Given the description of an element on the screen output the (x, y) to click on. 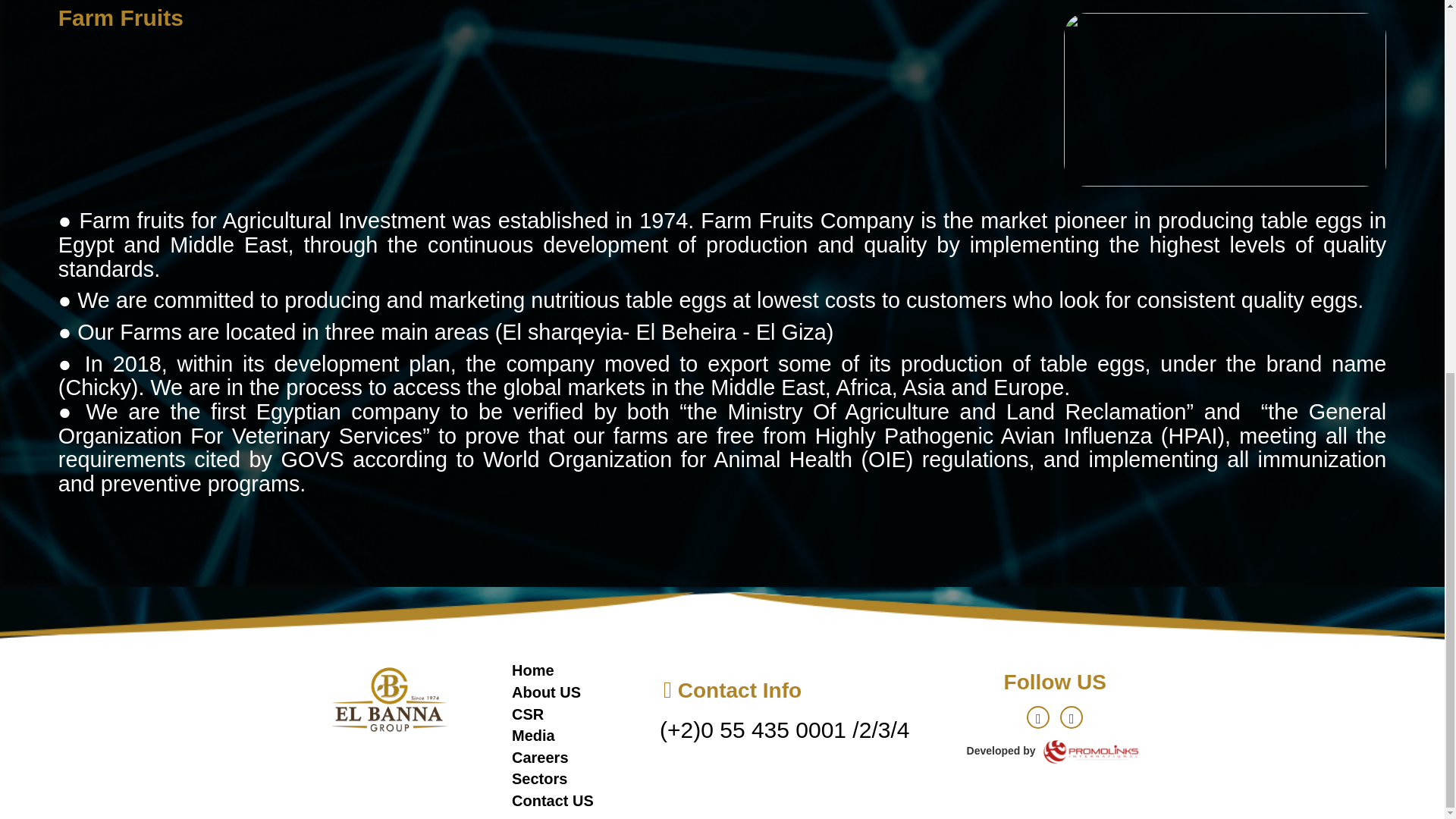
Media (533, 735)
CSR (527, 713)
Home (533, 669)
Careers (540, 757)
About US (546, 692)
